Given the description of an element on the screen output the (x, y) to click on. 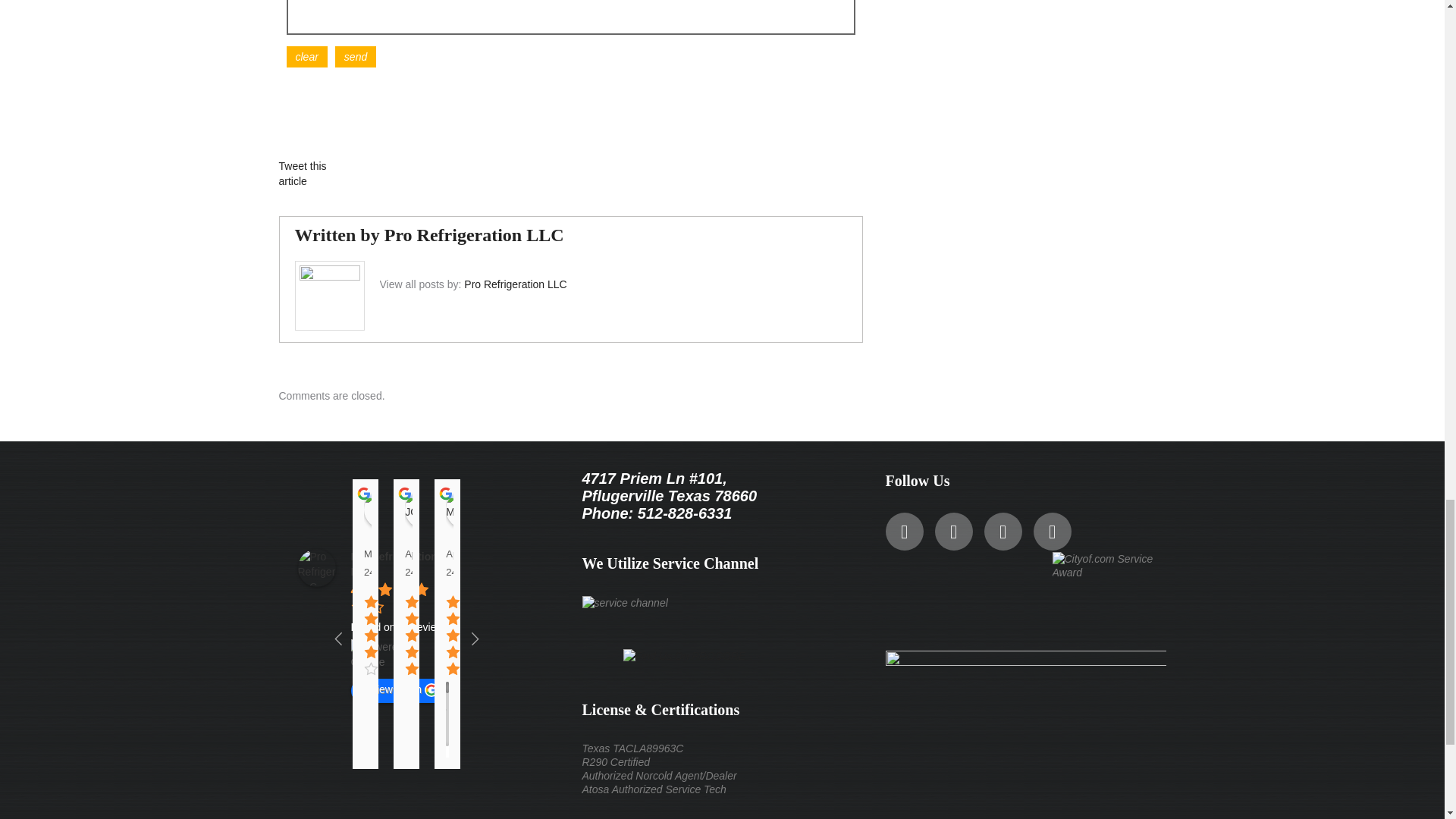
clear (306, 56)
JOSE ANTONIO CHINO QUIRINO (423, 509)
Pro Refrigeration LLC (515, 284)
Ken Davis (547, 509)
Leonard Moore (505, 509)
Ly (382, 509)
Pro Refrigeration LLC (315, 567)
send (354, 56)
Margaret Peterson (464, 509)
Tweet this article (302, 173)
